Given the description of an element on the screen output the (x, y) to click on. 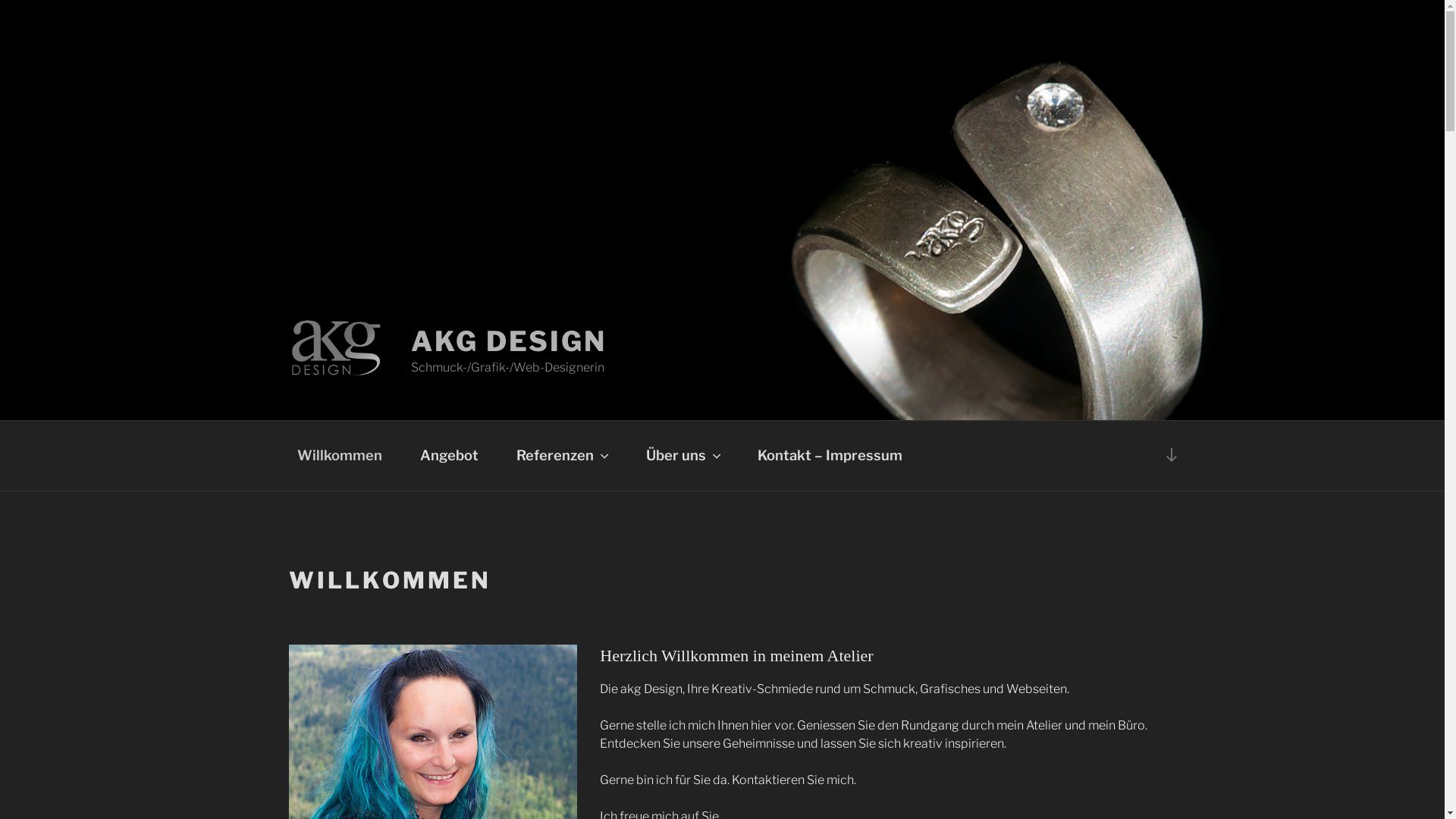
Zum Inhalt nach unten scrollen Element type: text (1171, 454)
Referenzen Element type: text (561, 455)
Willkommen Element type: text (339, 455)
AKG DESIGN Element type: text (508, 340)
Angebot Element type: text (448, 455)
